Given the description of an element on the screen output the (x, y) to click on. 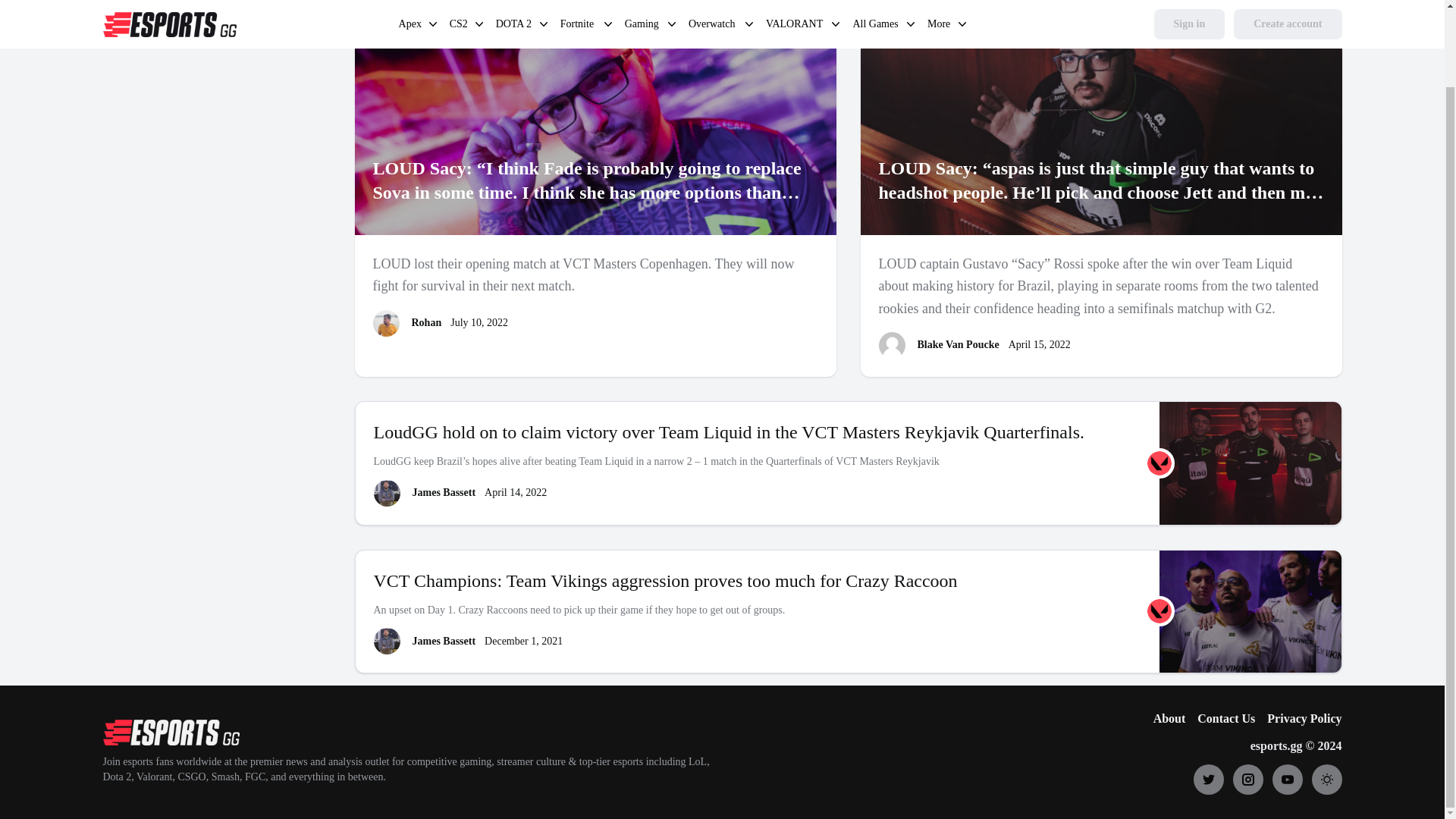
Privacy Policy (800, 14)
About (1297, 14)
Contact Us (303, 14)
